Given the description of an element on the screen output the (x, y) to click on. 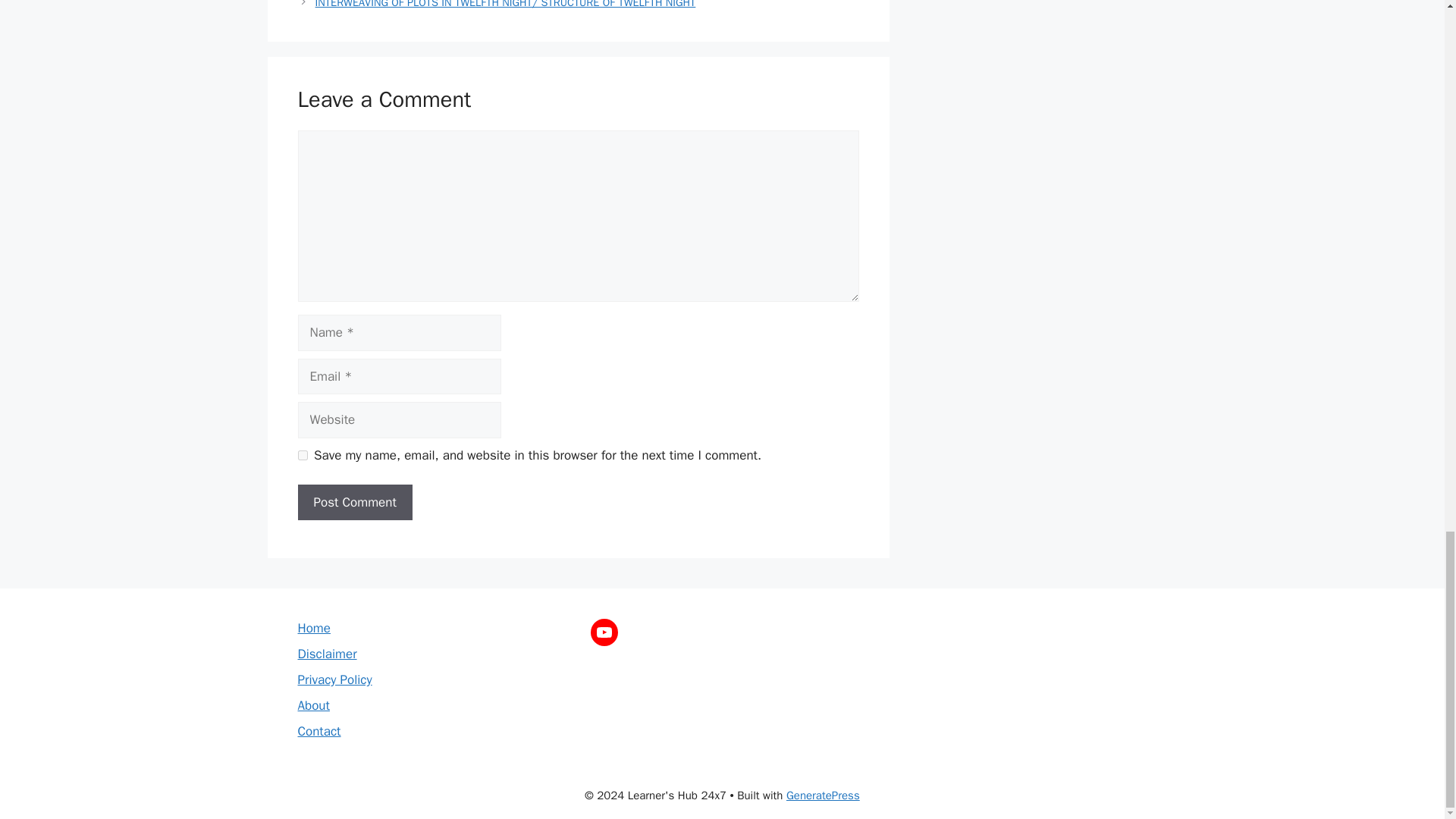
yes (302, 455)
Post Comment (354, 502)
Post Comment (354, 502)
